Given the description of an element on the screen output the (x, y) to click on. 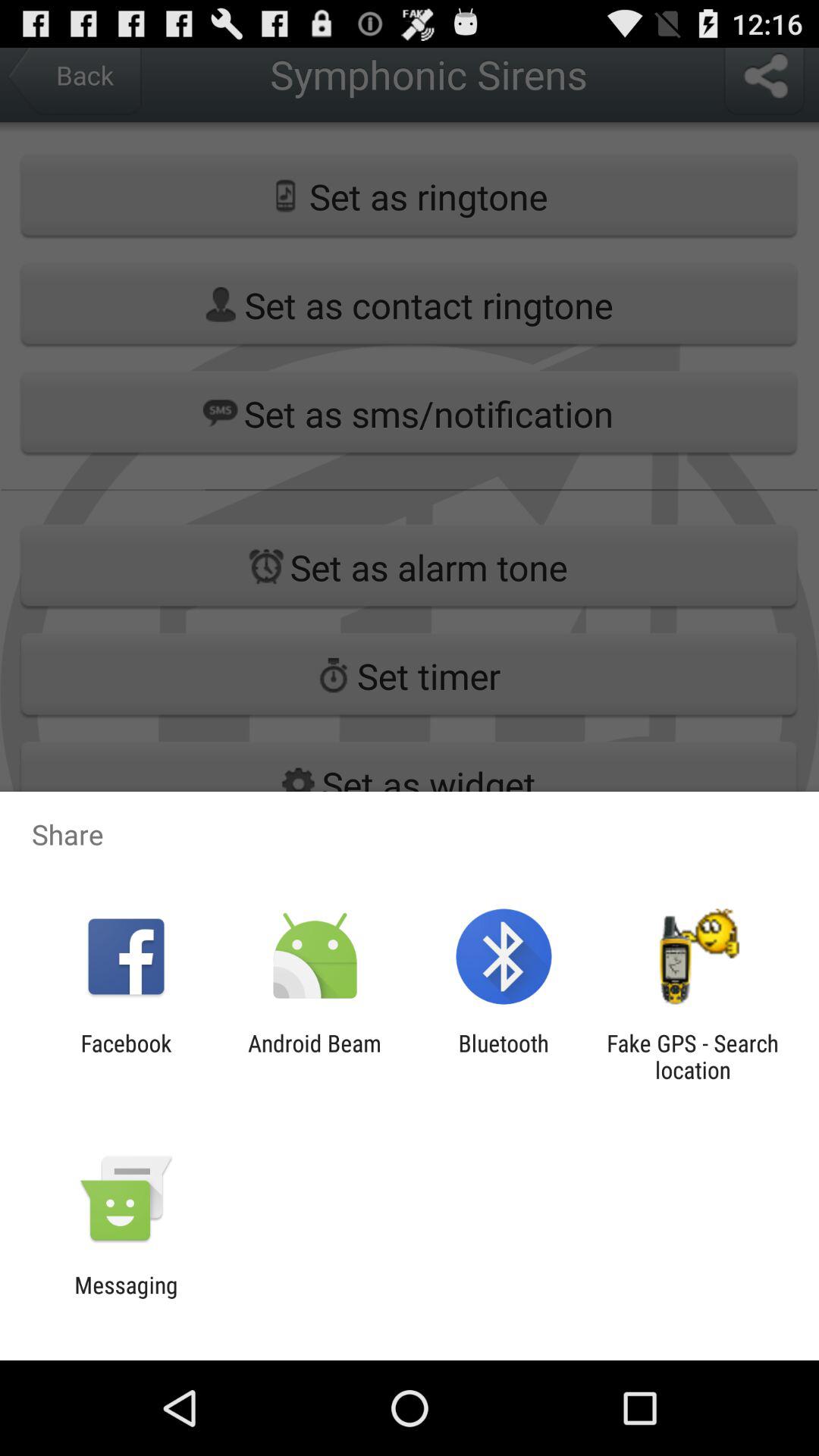
jump to the android beam icon (314, 1056)
